Given the description of an element on the screen output the (x, y) to click on. 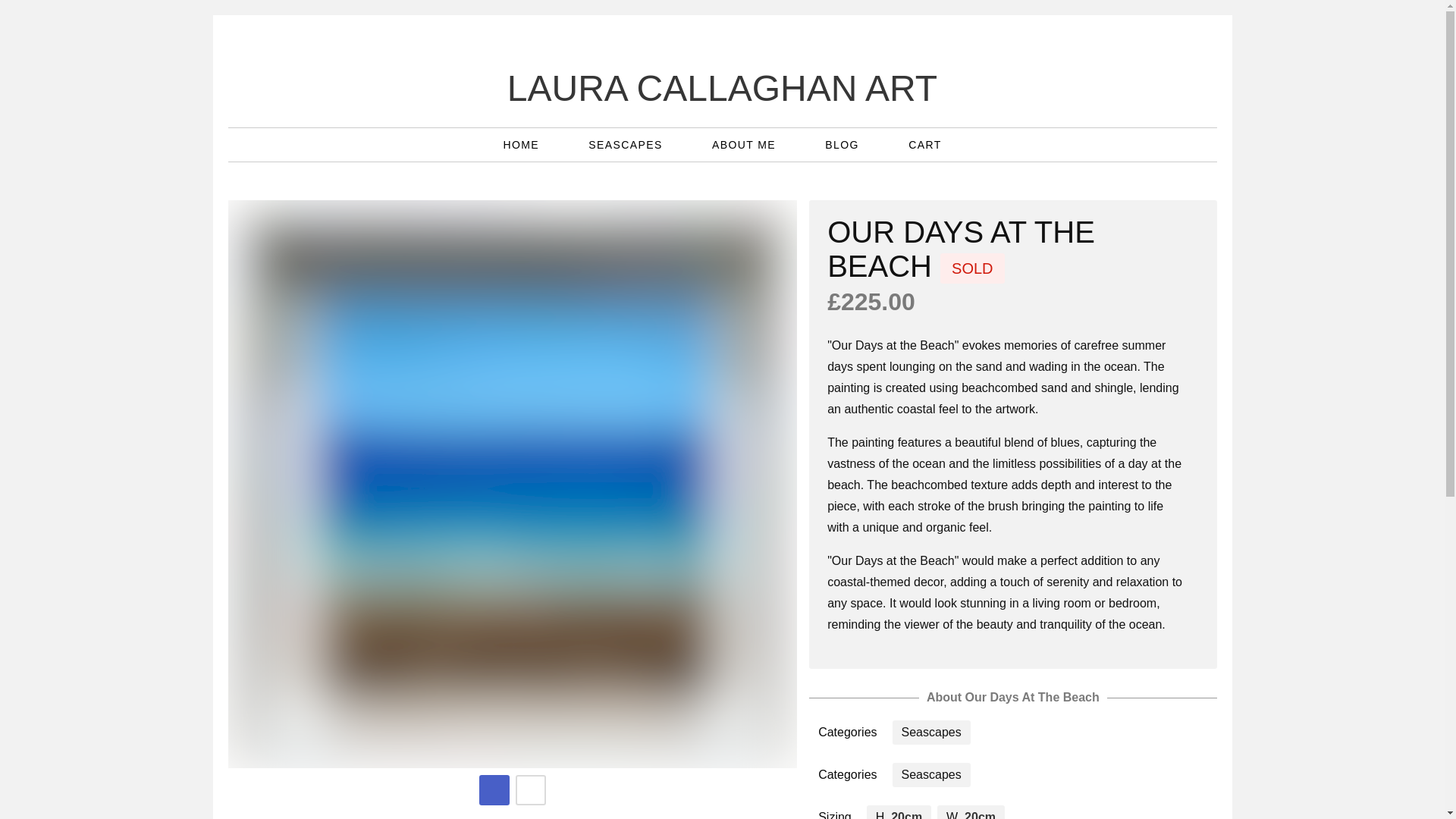
HOME (522, 144)
View image 2 (530, 789)
CART (924, 144)
BLOG (844, 144)
View image 1 (494, 789)
ABOUT ME (744, 144)
SEASCAPES (627, 144)
